Given the description of an element on the screen output the (x, y) to click on. 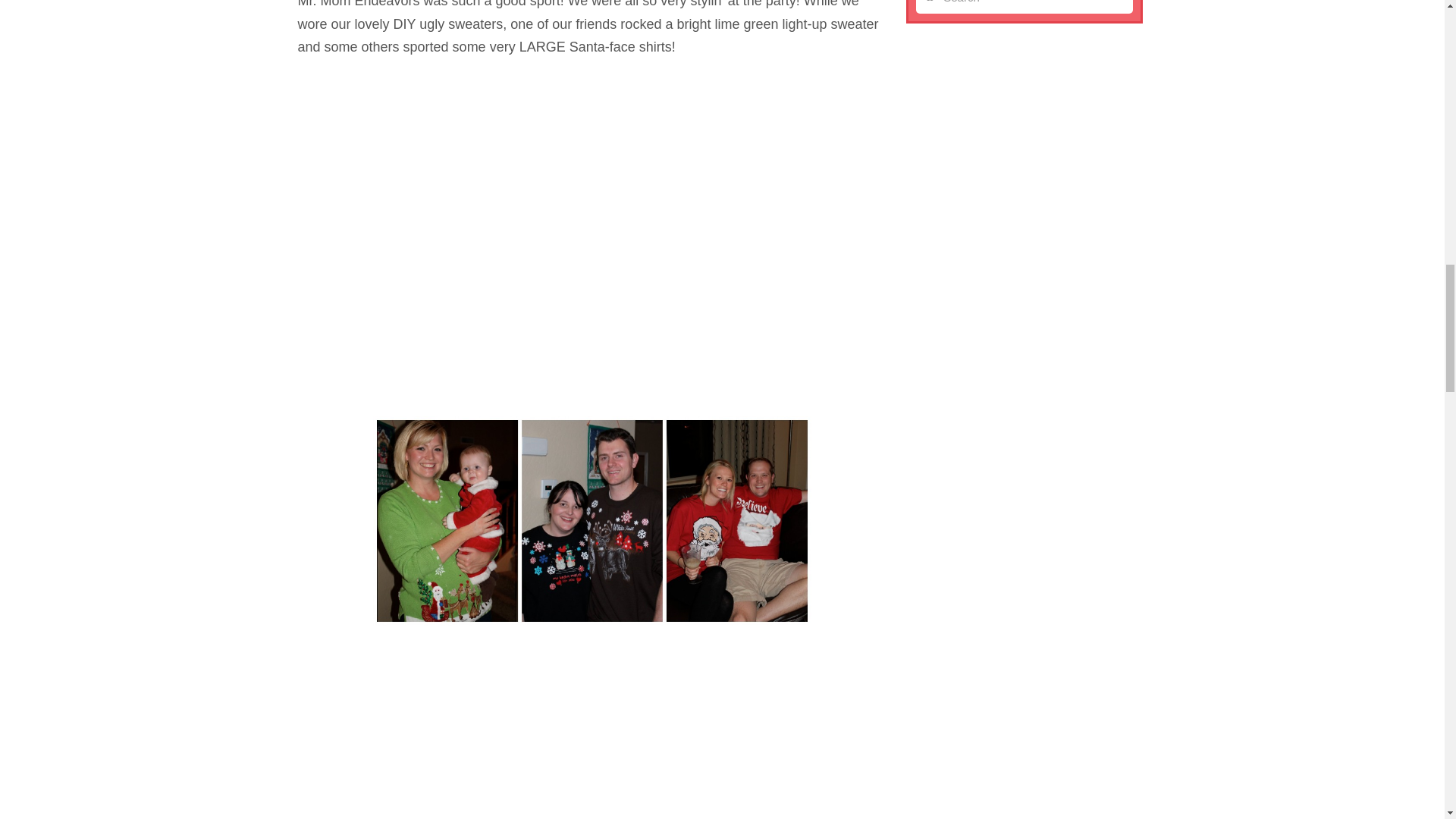
Tacky Christmas Sweater Party (591, 520)
